Given the description of an element on the screen output the (x, y) to click on. 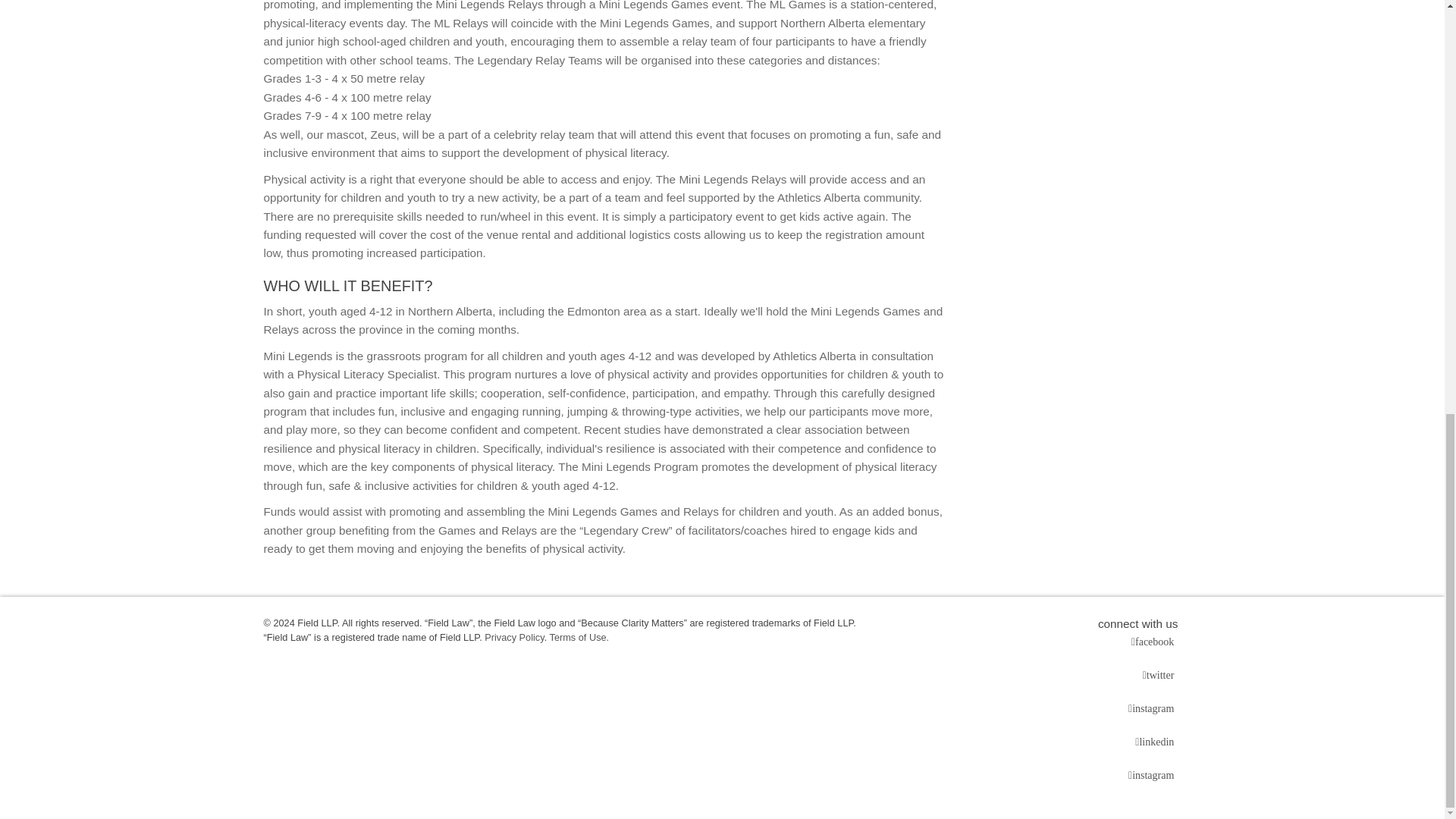
twitter (1159, 675)
facebook (1154, 642)
linkedin (1156, 742)
Privacy Policy (513, 636)
instagram (1152, 709)
instagram (1152, 775)
Terms of Use. (580, 636)
